Given the description of an element on the screen output the (x, y) to click on. 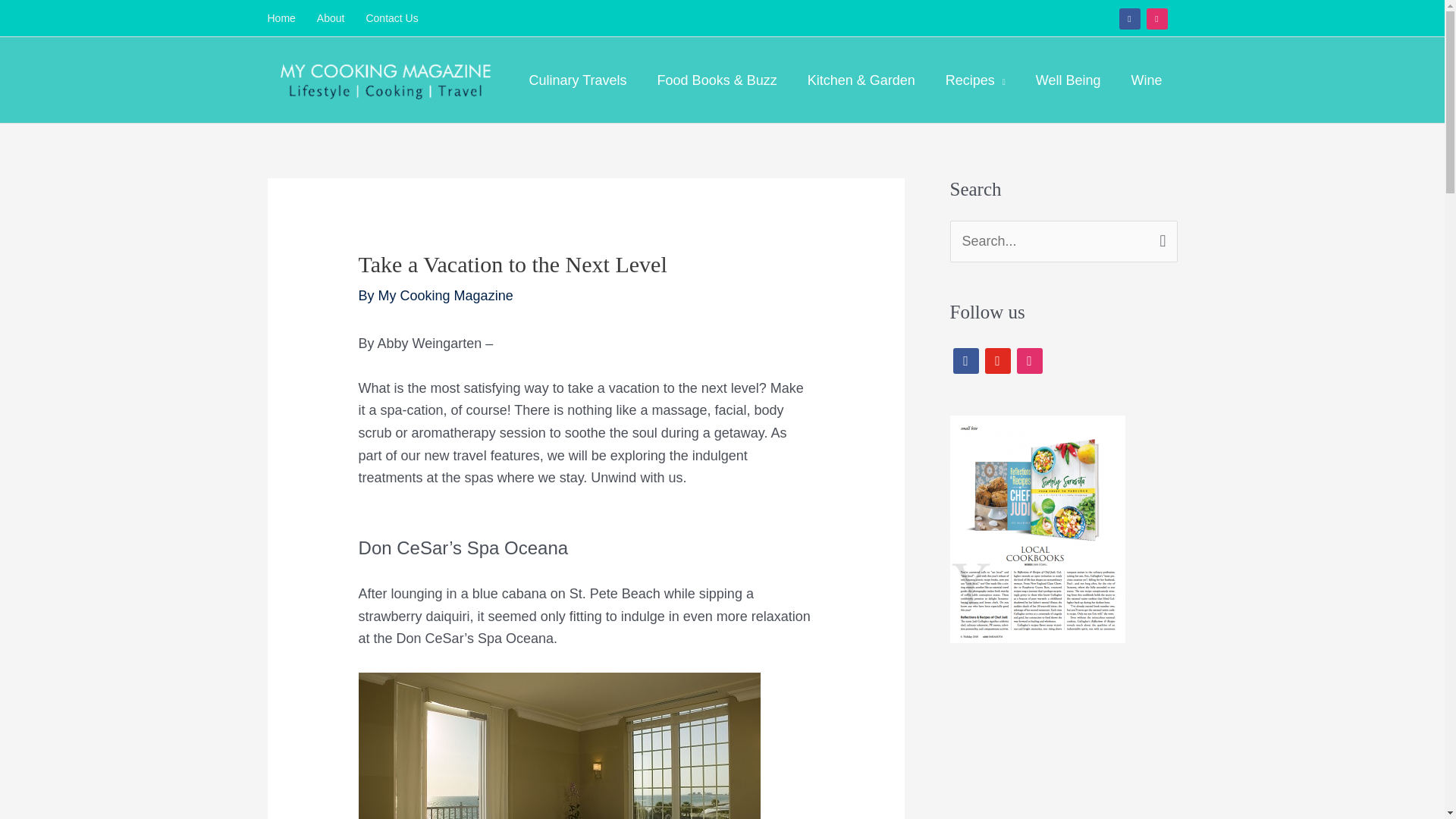
instagram (1157, 17)
Facebook (1129, 17)
Facebook (965, 359)
facebook (1129, 17)
Instagram (1157, 17)
youtube (997, 359)
facebook (965, 359)
Home (285, 18)
Recipes (975, 80)
Culinary Travels (577, 80)
Well Being (1068, 80)
Default Label (1029, 359)
My Cooking Magazine (445, 295)
View all posts by My Cooking Magazine (445, 295)
Contact Us (391, 18)
